Given the description of an element on the screen output the (x, y) to click on. 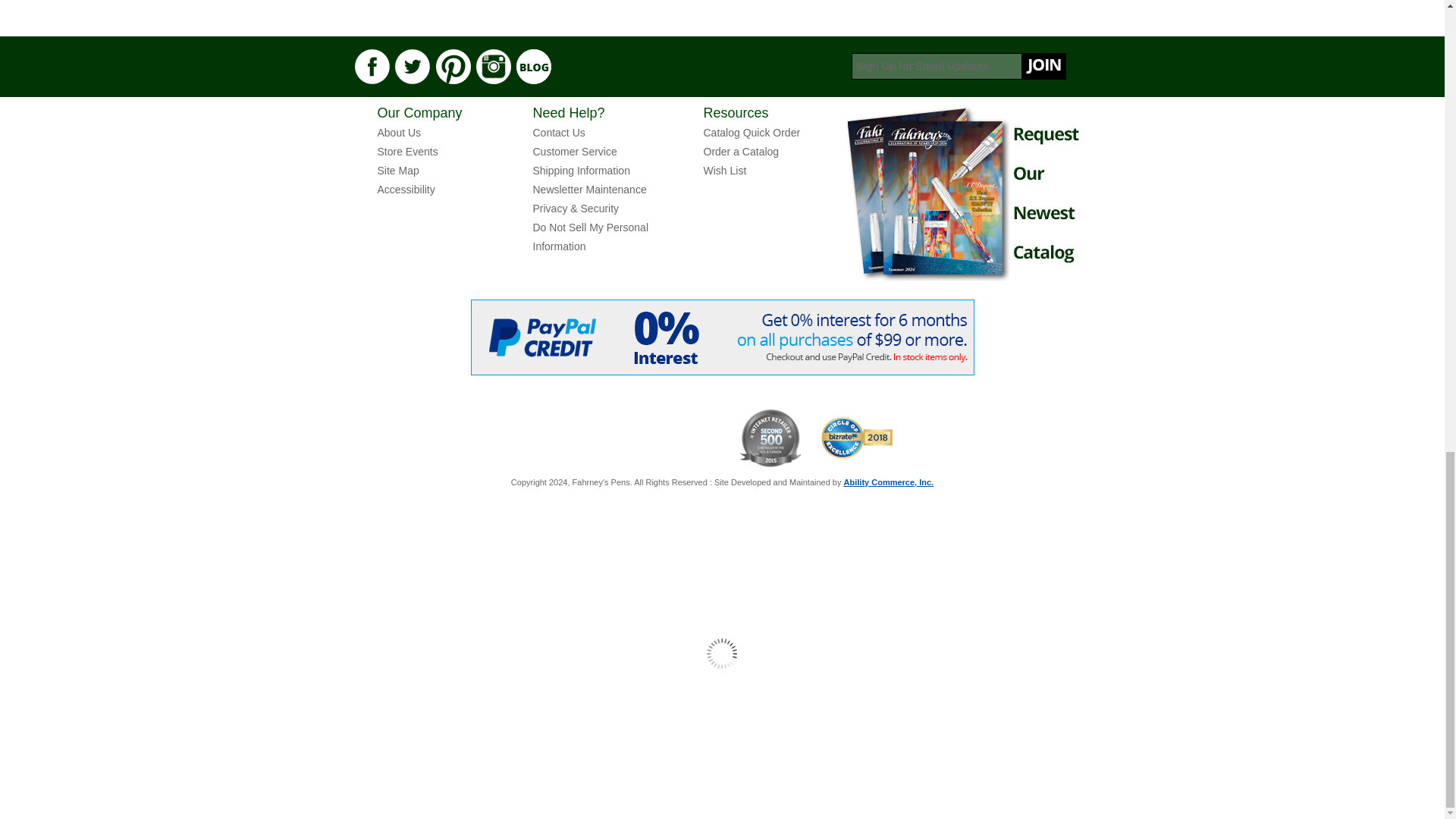
Sign Up for Email Updates (957, 66)
